Given the description of an element on the screen output the (x, y) to click on. 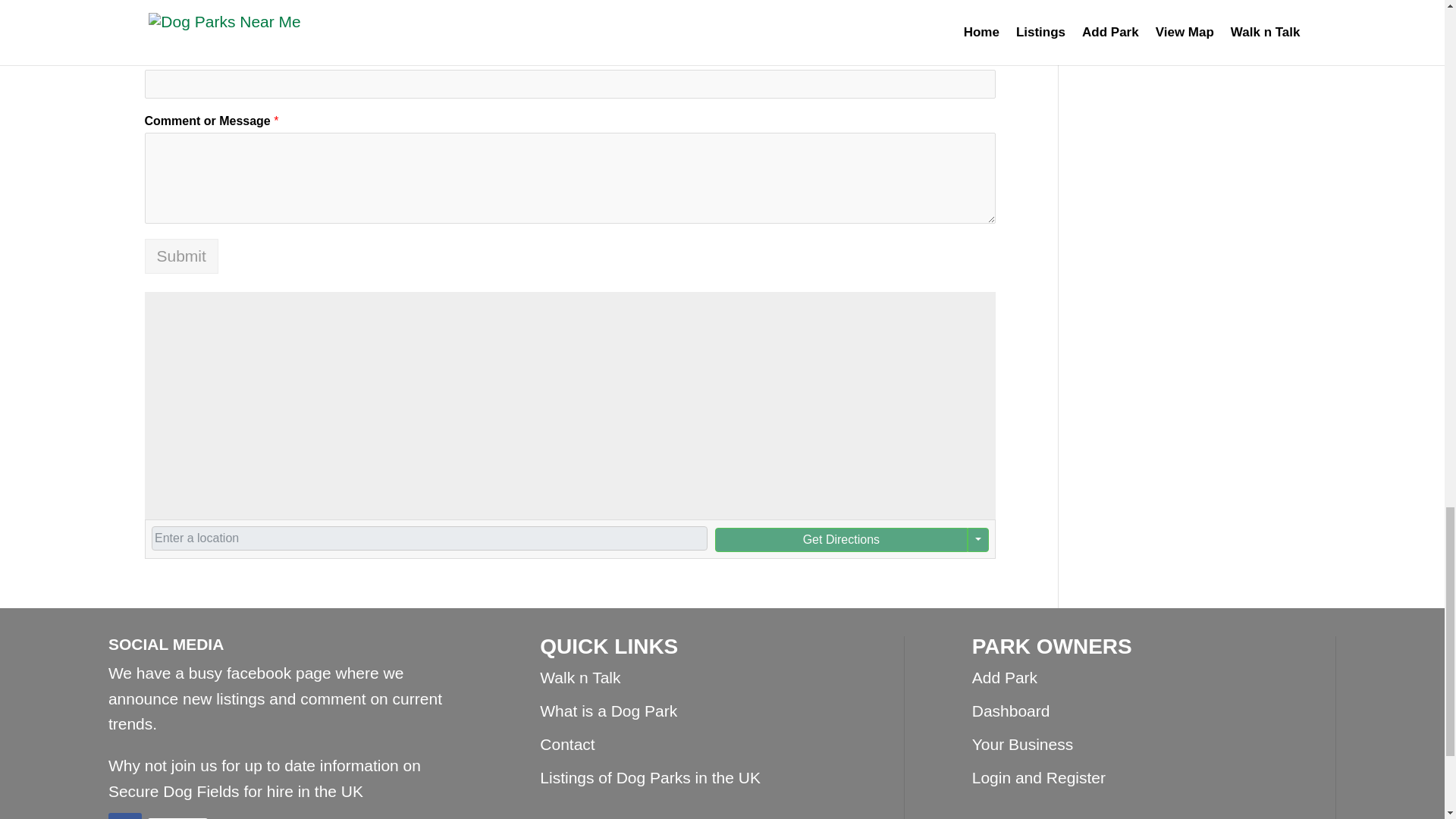
Facebook (178, 818)
Follow on Facebook (124, 816)
Walk n Talk (580, 677)
Listings of Dog Parks in the UK (650, 777)
Add Park (1004, 677)
What is a Dog Park (608, 710)
Contact (567, 743)
Get Directions (840, 539)
Dashboard (1010, 710)
Your Business (1022, 743)
Submit (180, 256)
Follow (178, 818)
